Given the description of an element on the screen output the (x, y) to click on. 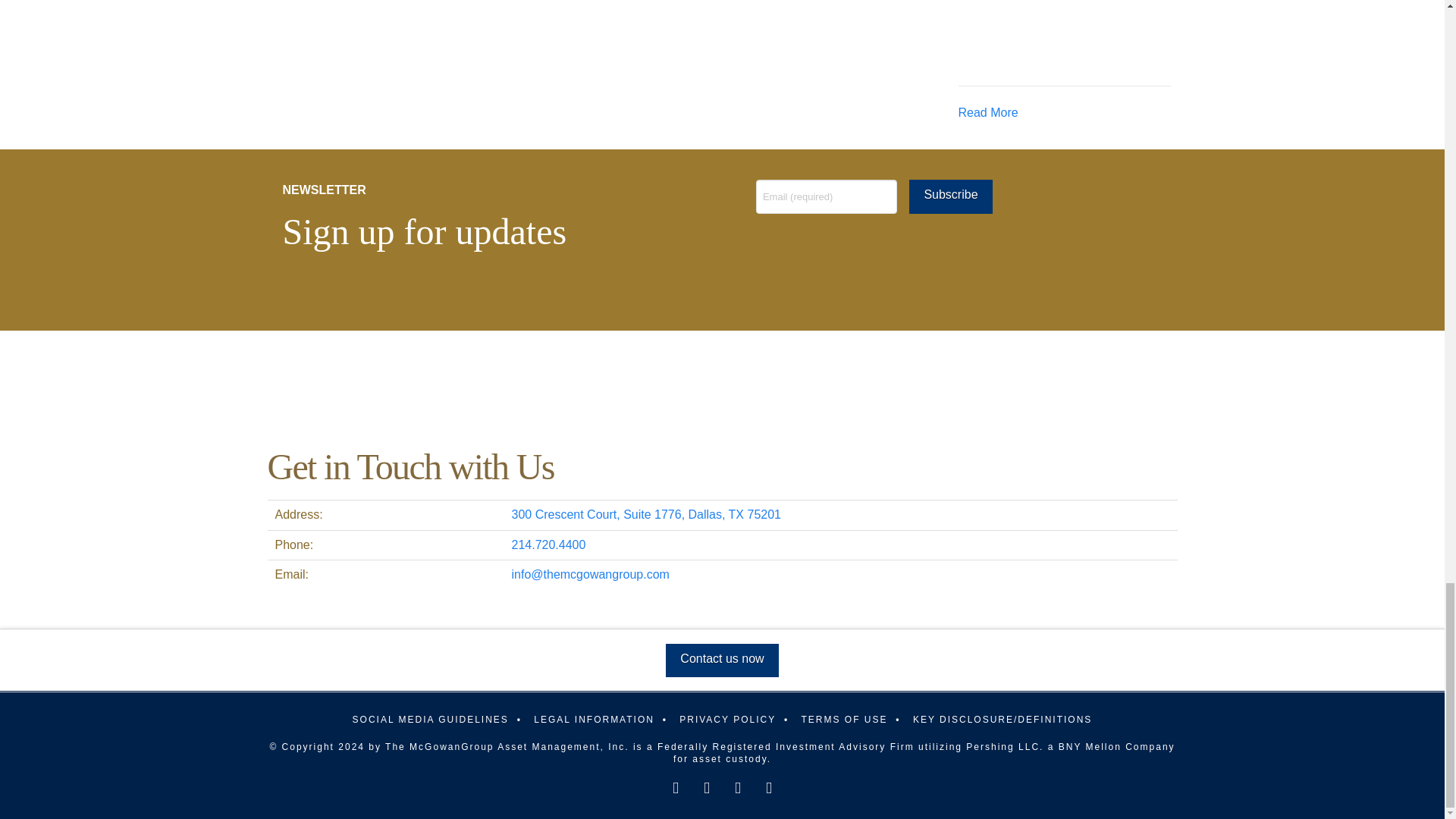
Subscribe (949, 196)
McGowanGroup Wealth Management 2024 Q3 Client Update (1014, 37)
